Given the description of an element on the screen output the (x, y) to click on. 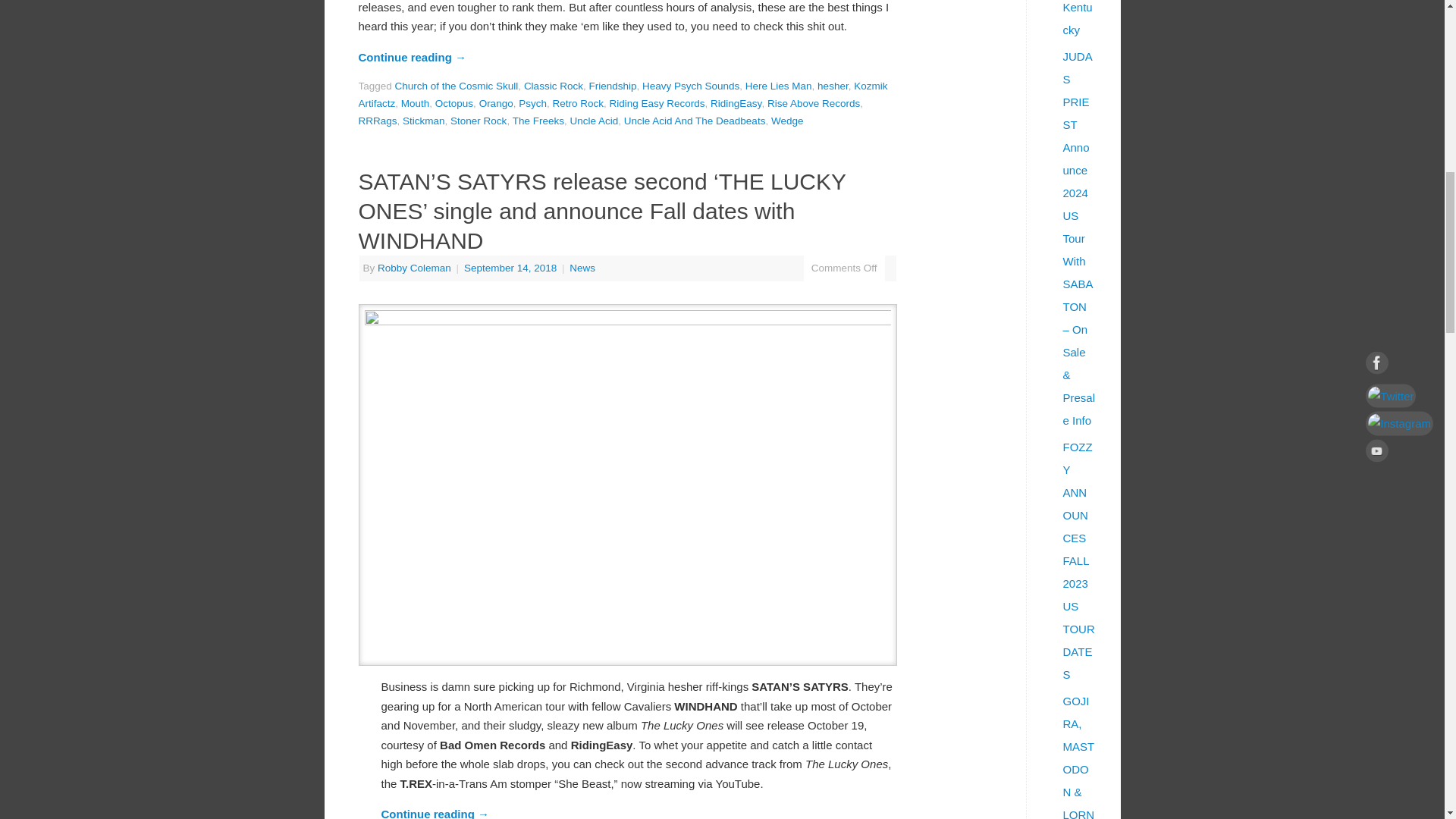
Heavy Psych Sounds (690, 85)
Church of the Cosmic Skull (456, 85)
hesher (832, 85)
12:09 am (511, 267)
Retro Rock (577, 102)
Stickman (424, 120)
View all posts by Robby Coleman (414, 267)
Octopus (454, 102)
Mouth (415, 102)
RidingEasy (735, 102)
Psych (532, 102)
Here Lies Man (778, 85)
Classic Rock (553, 85)
RRRags (377, 120)
Kozmik Artifactz (622, 94)
